Given the description of an element on the screen output the (x, y) to click on. 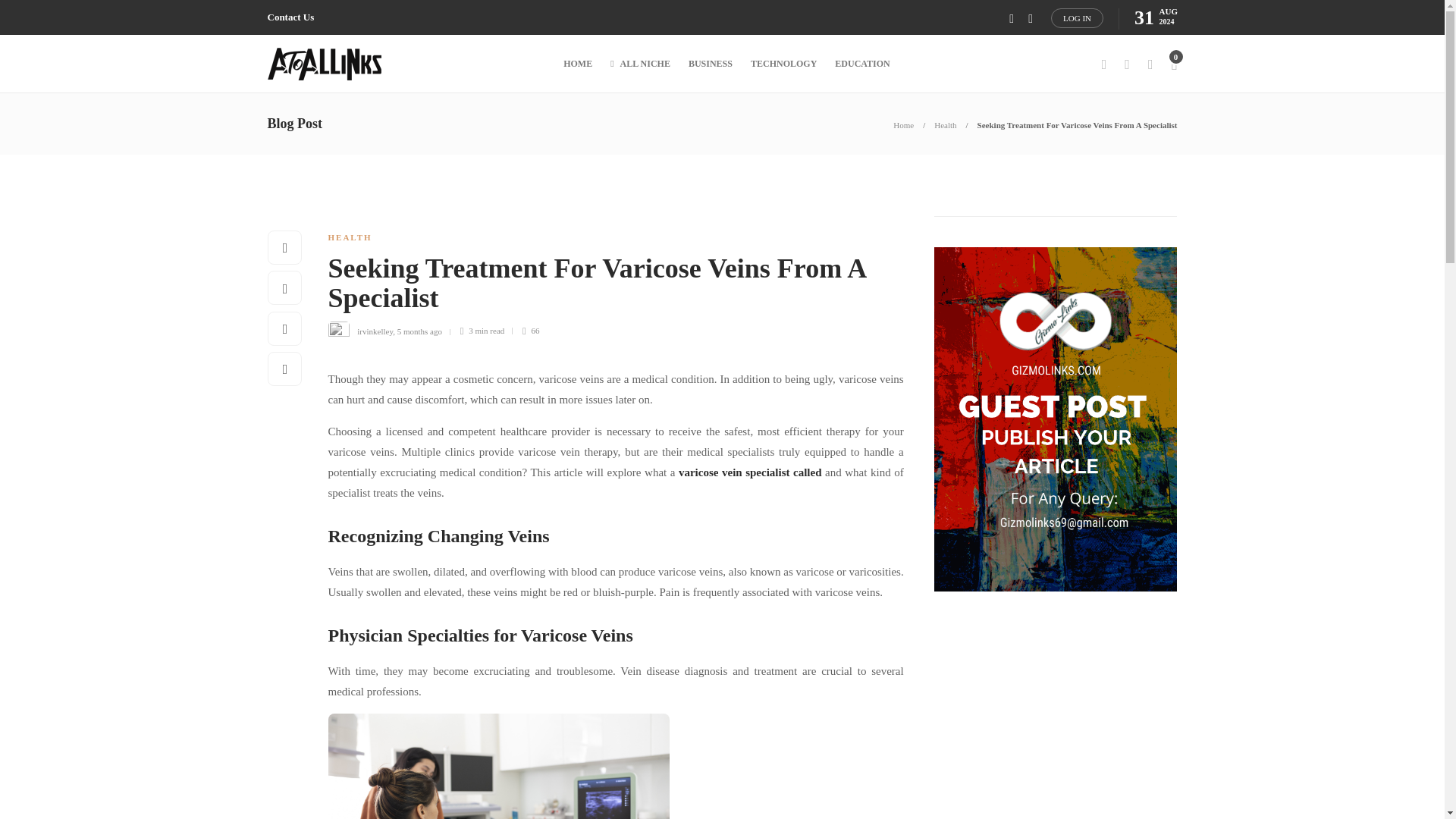
Home (903, 124)
5 months ago (419, 329)
Seeking Treatment For Varicose Veins From A Specialist  (603, 287)
Health (945, 124)
Contact Us (290, 17)
irvinkelley (374, 329)
HEALTH (349, 236)
EDUCATION (861, 63)
Seeking Treatment For Varicose Veins From A Specialist (1076, 124)
TECHNOLOGY (783, 63)
